Given the description of an element on the screen output the (x, y) to click on. 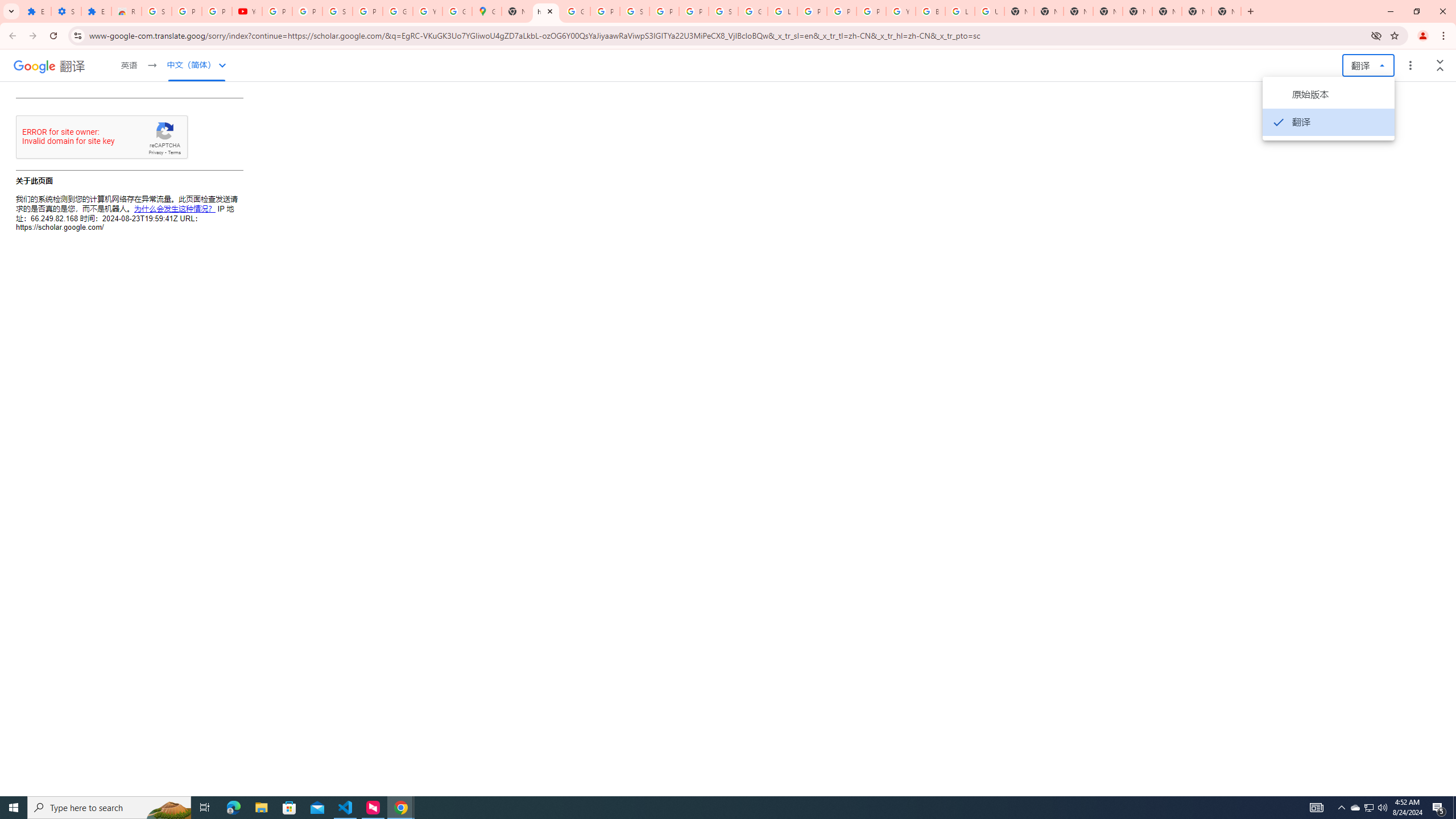
Privacy Help Center - Policies Help (841, 11)
New Tab (1226, 11)
YouTube (247, 11)
